Given the description of an element on the screen output the (x, y) to click on. 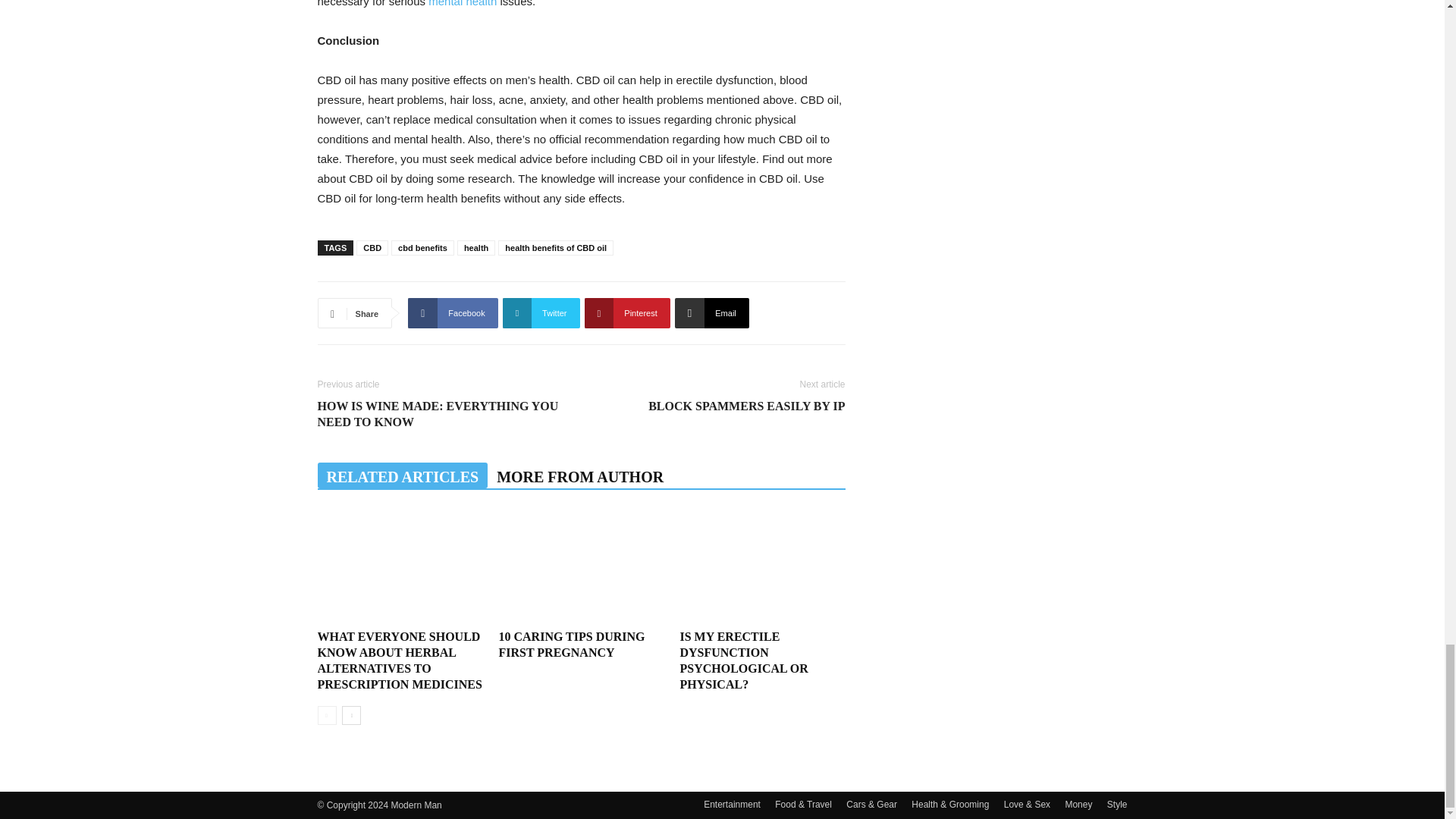
Is My Erectile Dysfunction Psychological or Physical? (743, 660)
10 Caring Tips During First Pregnancy (580, 567)
10 Caring Tips During First Pregnancy (571, 644)
Is My Erectile Dysfunction Psychological or Physical? (761, 567)
